Given the description of an element on the screen output the (x, y) to click on. 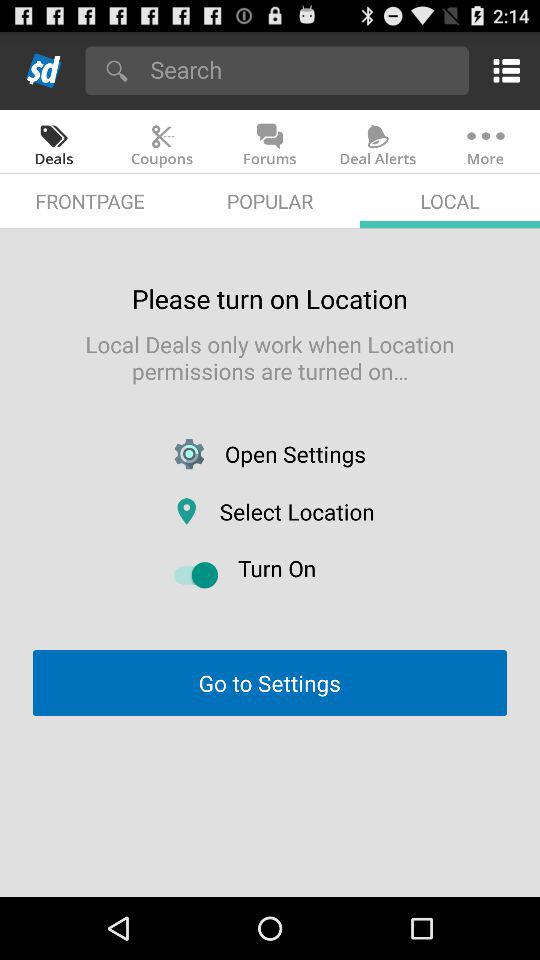
choose the icon above the coupons app (302, 69)
